Given the description of an element on the screen output the (x, y) to click on. 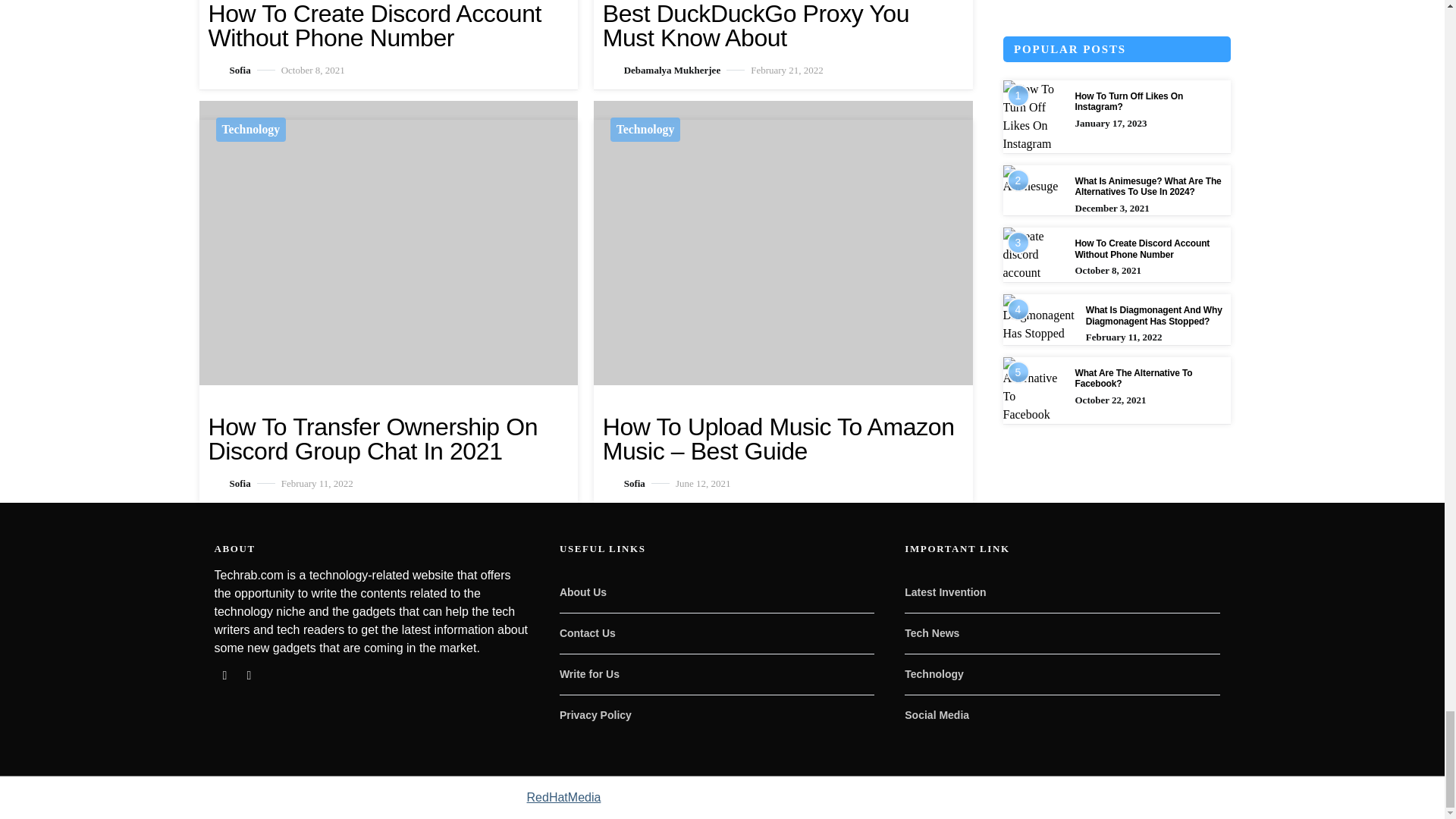
View all posts by Sofia (229, 69)
View all posts by Sofia (229, 482)
View all posts by Sofia (623, 482)
View all posts by Debamalya Mukherjee (661, 69)
